Given the description of an element on the screen output the (x, y) to click on. 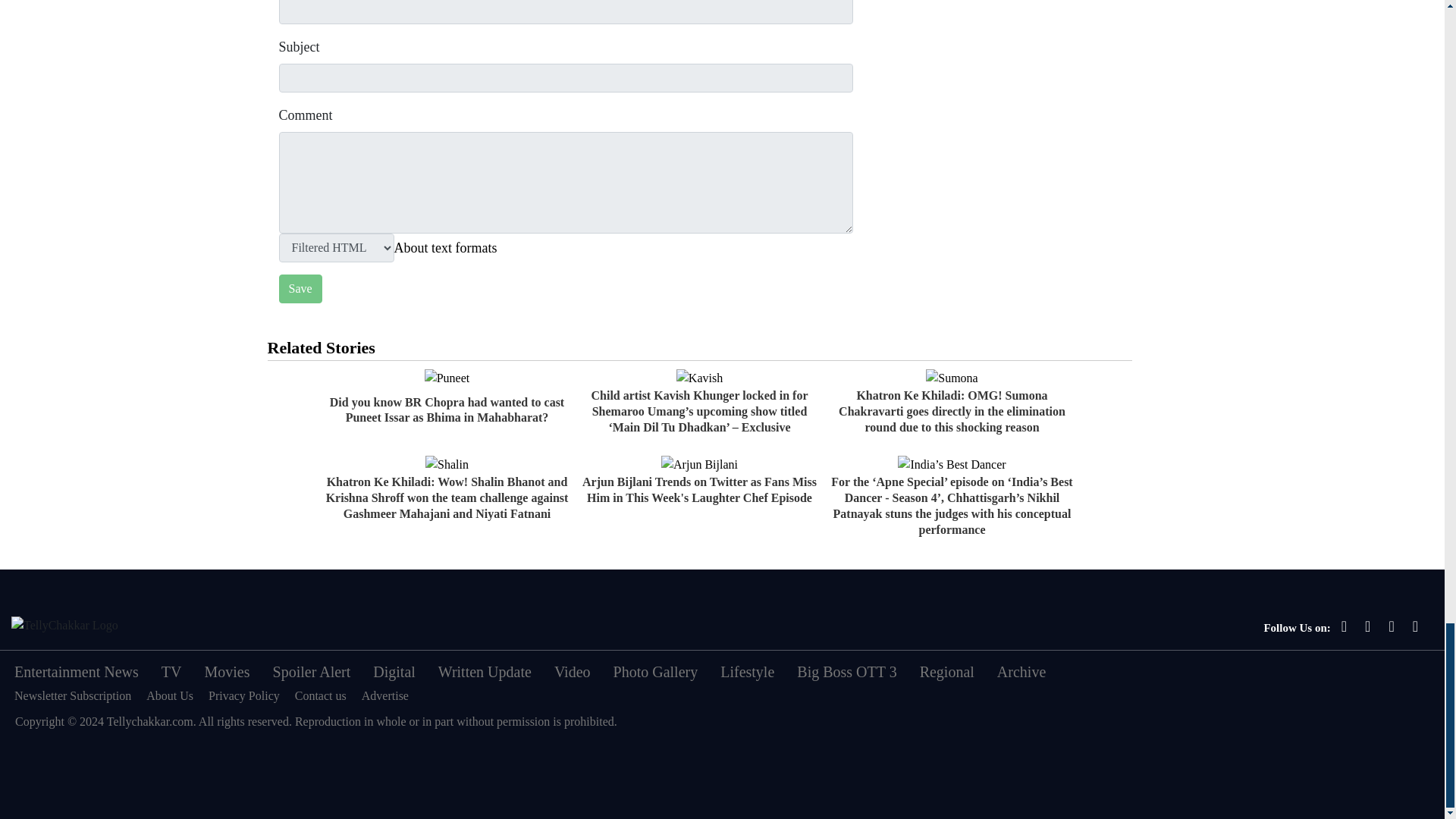
TellyChakkar Logo (64, 625)
Shalin  (446, 464)
Sumona  (951, 378)
Arjun Bijlani  (699, 464)
Puneet  (447, 378)
Kavish  (699, 378)
Opens in new window (445, 247)
